Given the description of an element on the screen output the (x, y) to click on. 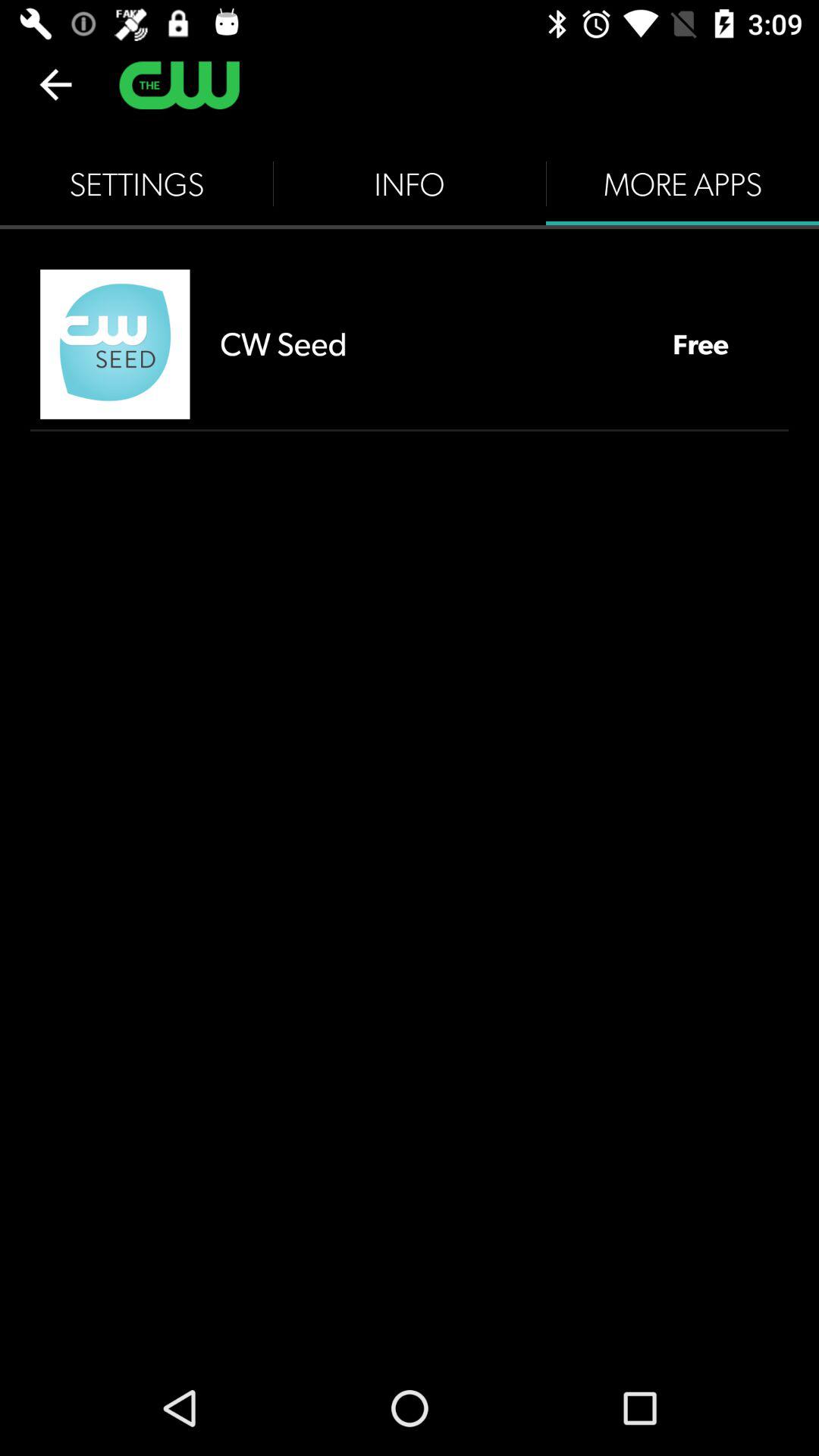
open item next to more apps item (409, 184)
